Given the description of an element on the screen output the (x, y) to click on. 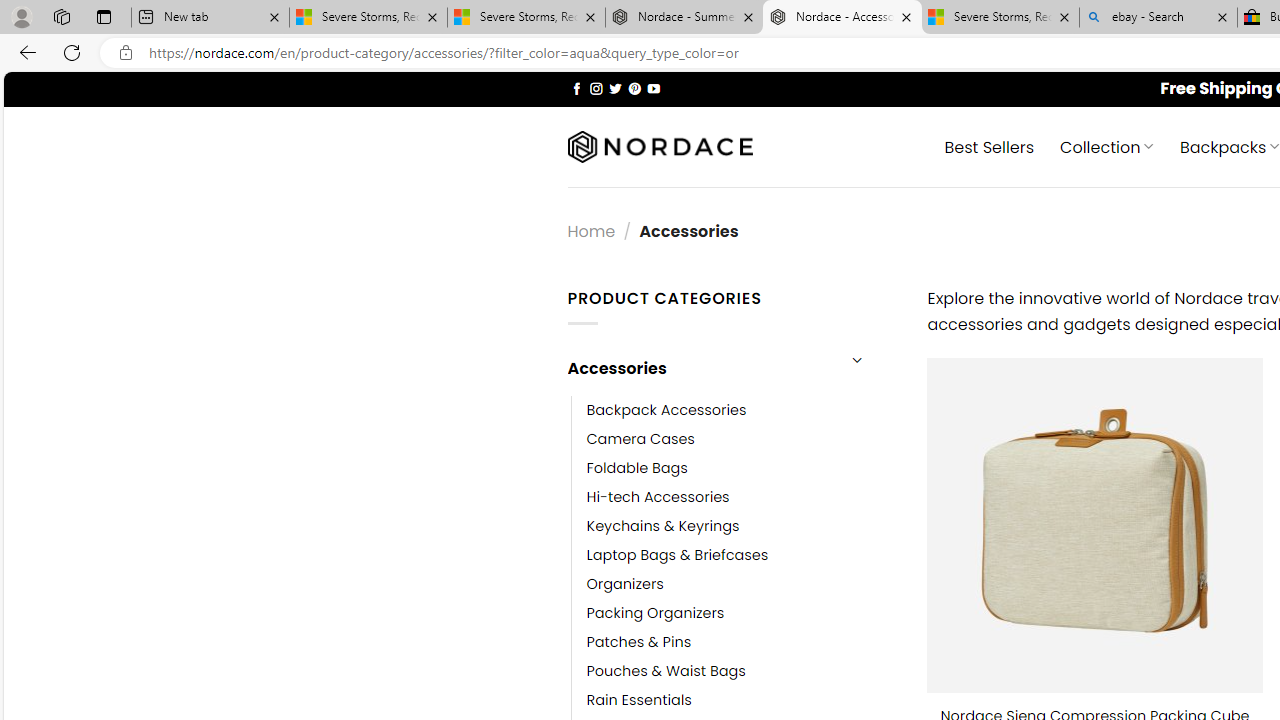
Pouches & Waist Bags (666, 671)
Rain Essentials (639, 700)
 Best Sellers (989, 146)
Nordace - Accessories (842, 17)
Camera Cases (640, 439)
Keychains & Keyrings (662, 526)
